Given the description of an element on the screen output the (x, y) to click on. 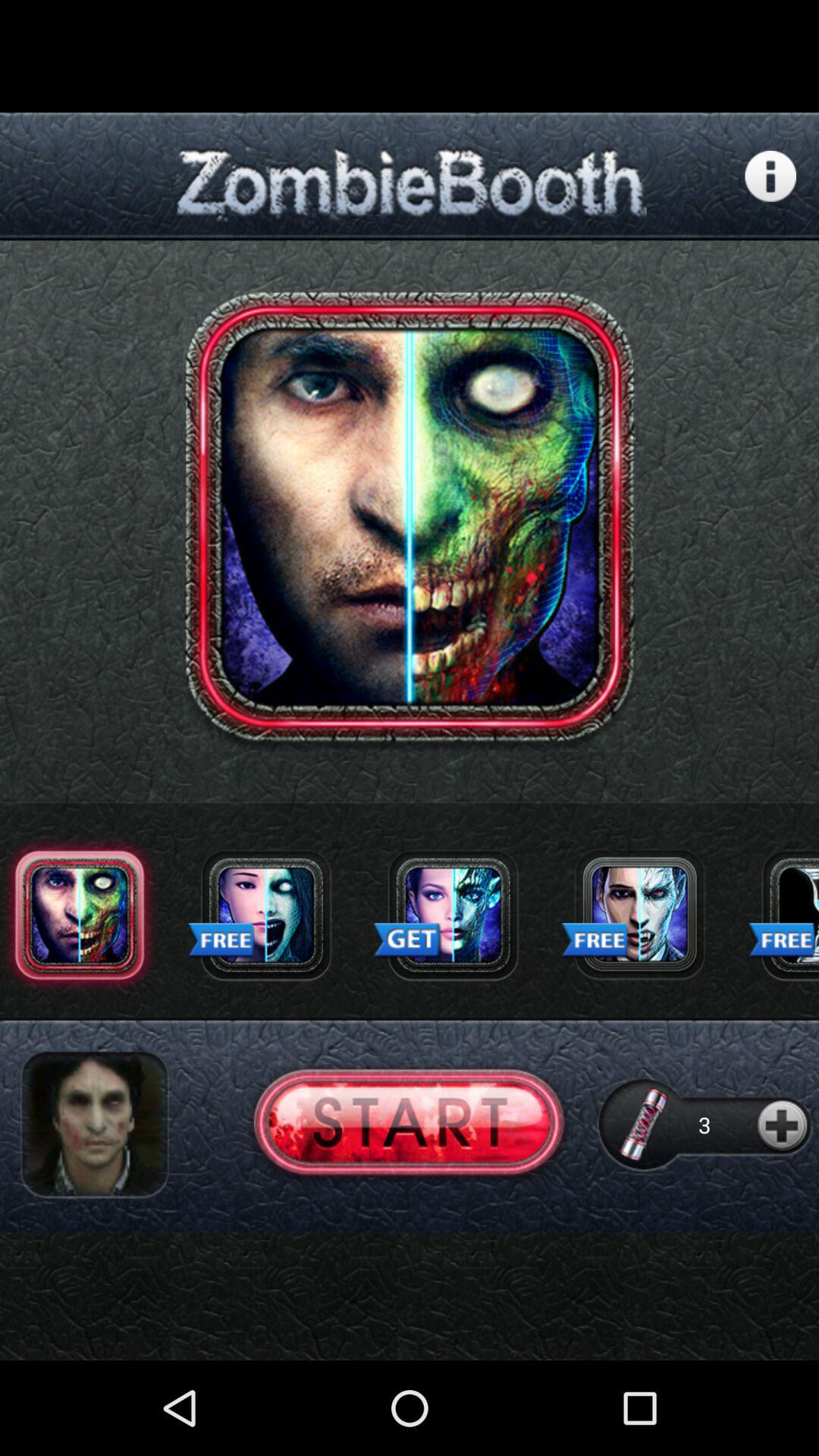
press to get (452, 914)
